Given the description of an element on the screen output the (x, y) to click on. 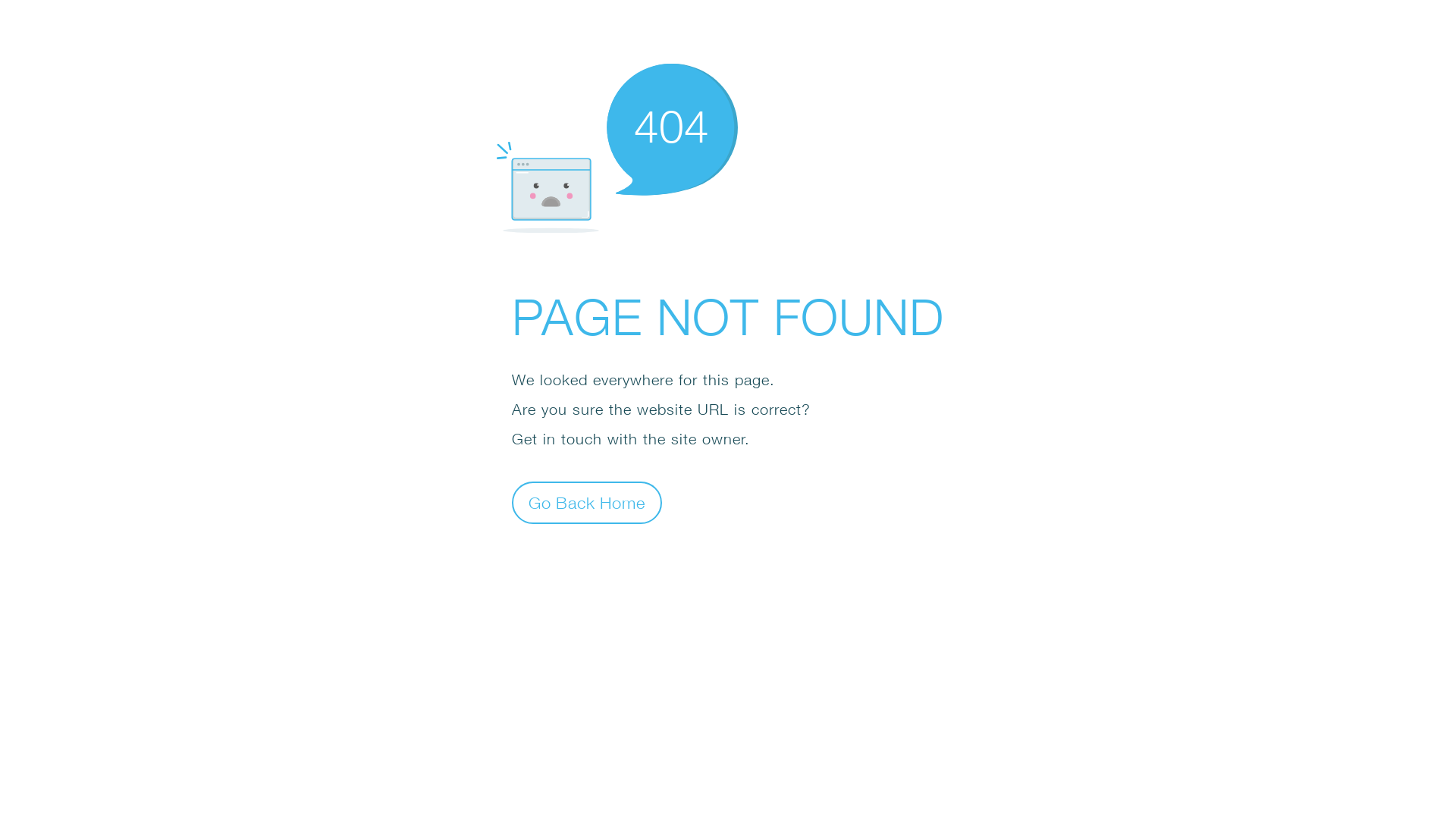
Go Back Home Element type: text (586, 502)
